Given the description of an element on the screen output the (x, y) to click on. 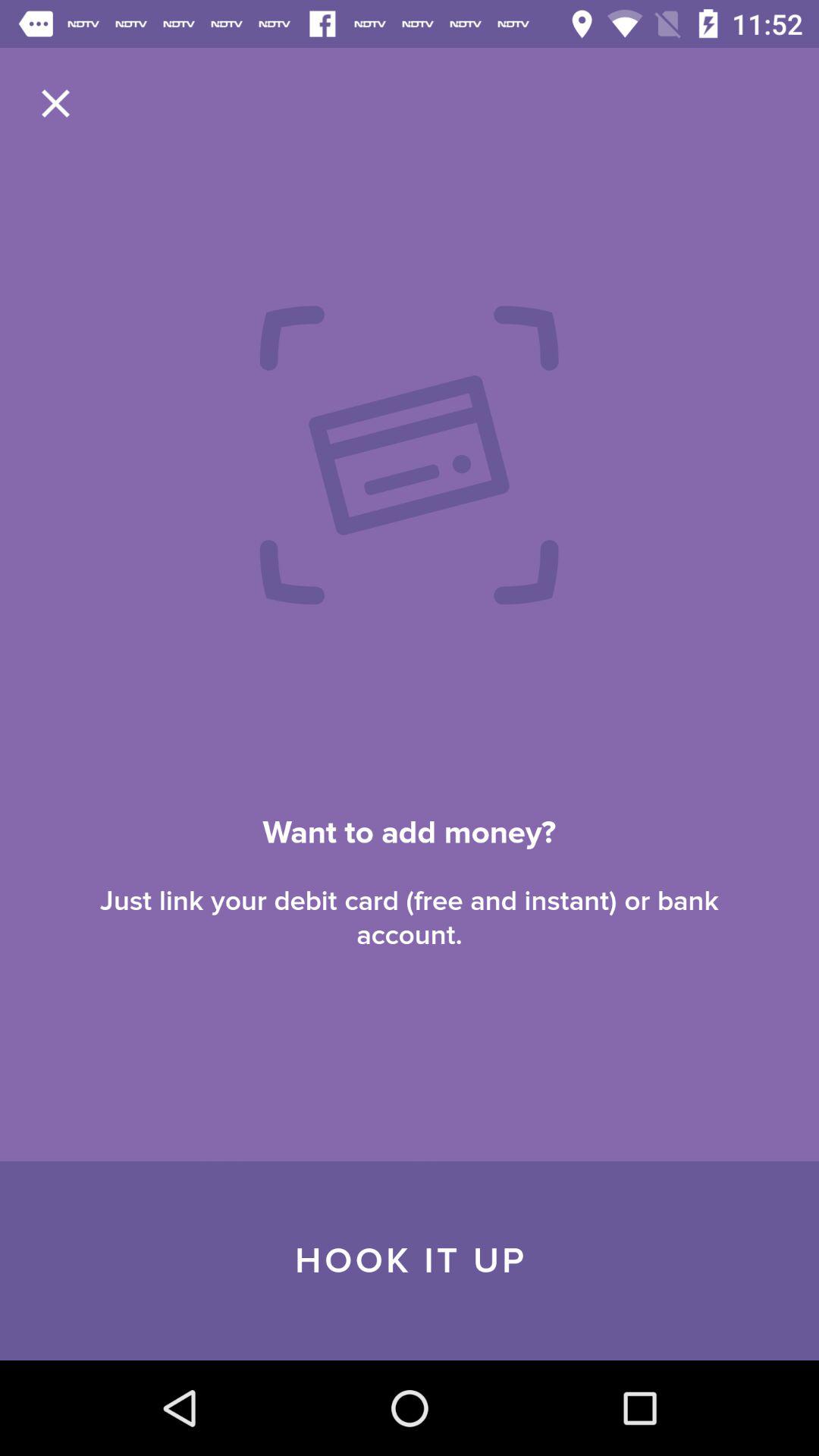
click the hook it up item (409, 1260)
